Given the description of an element on the screen output the (x, y) to click on. 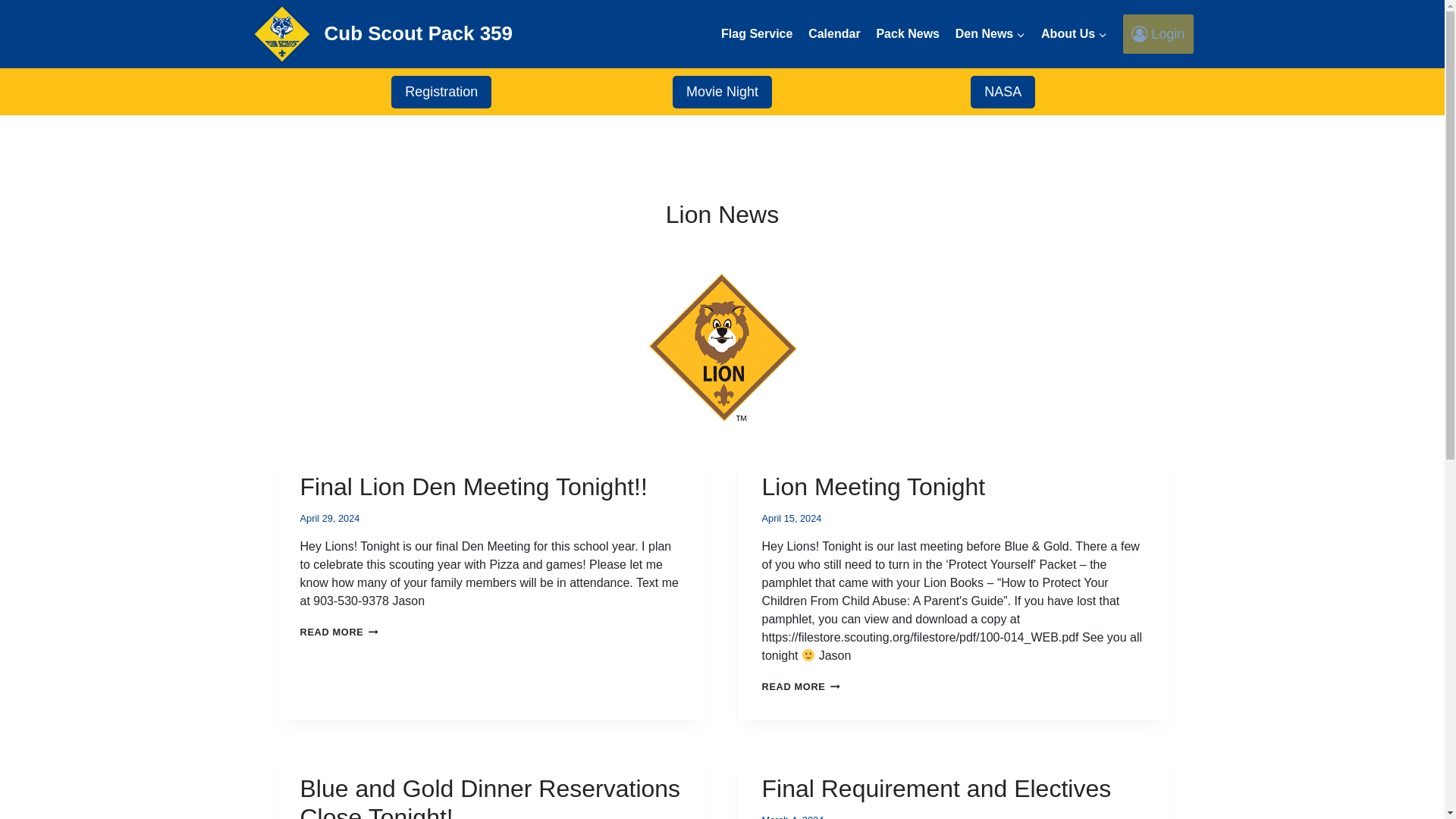
Blue and Gold Dinner Reservations Close Tonight! (338, 632)
Flag Service (490, 796)
Pack News (756, 33)
Calendar (907, 33)
Registration (833, 33)
Final Requirement and Electives (441, 92)
Lion Meeting Tonight (935, 788)
Movie Night (873, 486)
Den News (721, 92)
